Given the description of an element on the screen output the (x, y) to click on. 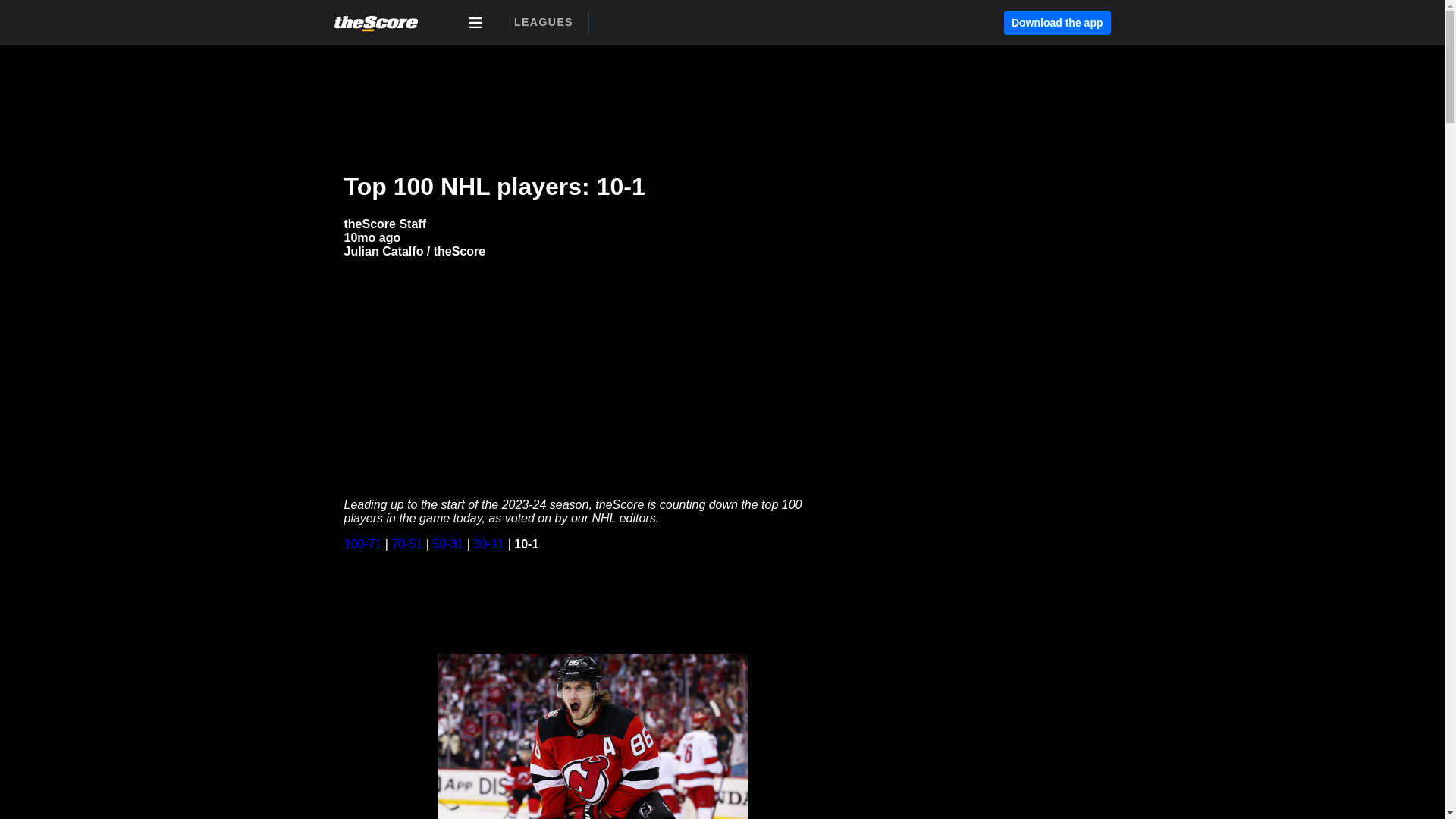
10. J. Hughes (592, 600)
100-71 (362, 543)
2023-10-09T23:11:29.000Z (372, 237)
30-11 (488, 543)
70-51 (406, 543)
LEAGUES (543, 22)
50-31 (447, 543)
Download the app (1057, 22)
theScore Staff (384, 223)
